Given the description of an element on the screen output the (x, y) to click on. 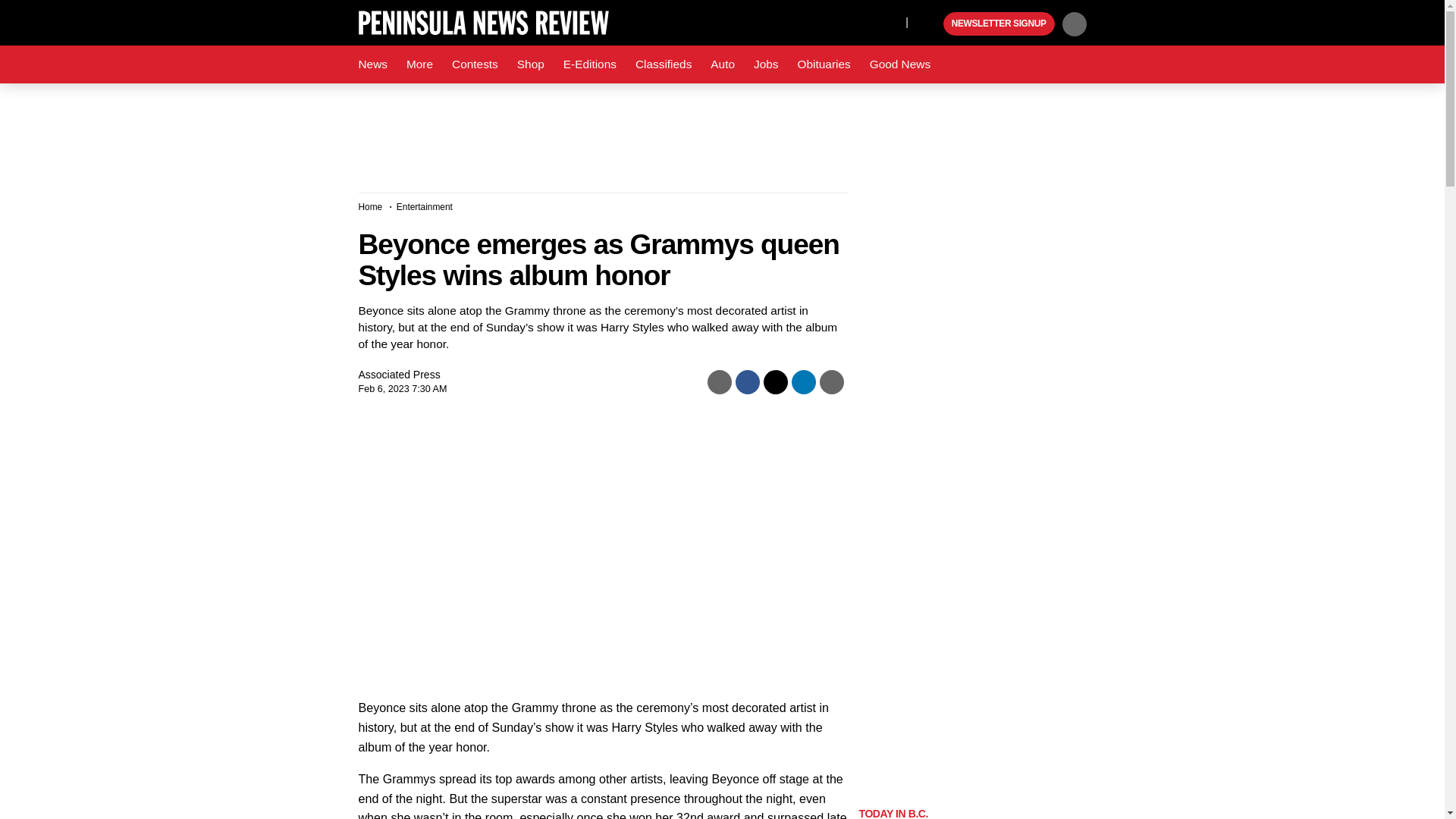
NEWSLETTER SIGNUP (998, 24)
News (372, 64)
Play (929, 24)
X (889, 21)
